Given the description of an element on the screen output the (x, y) to click on. 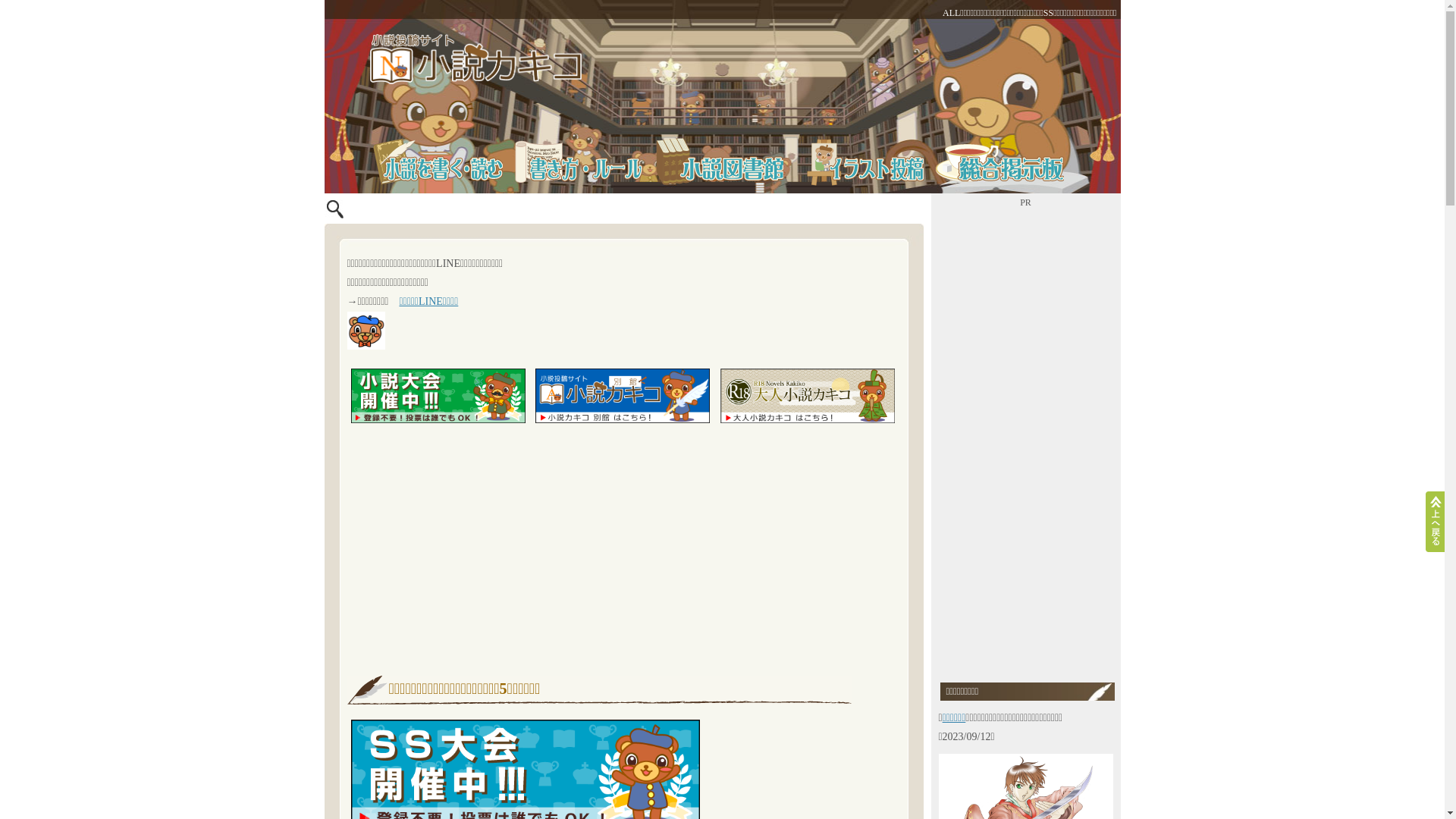
Advertisement Element type: hover (1025, 439)
Advertisement Element type: hover (623, 546)
